Given the description of an element on the screen output the (x, y) to click on. 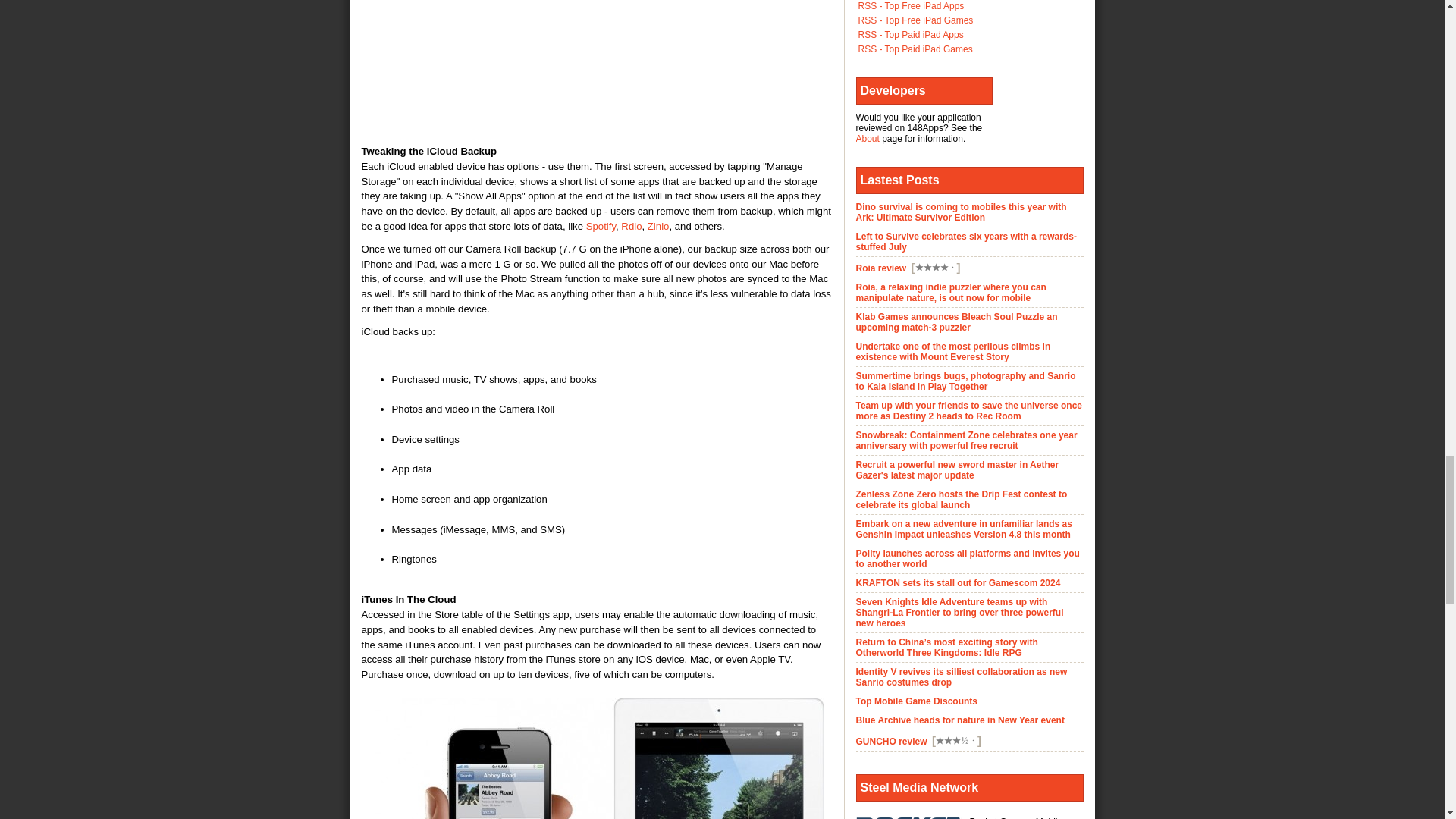
Rdio (631, 225)
Spotify (600, 225)
Zinio (658, 225)
